Given the description of an element on the screen output the (x, y) to click on. 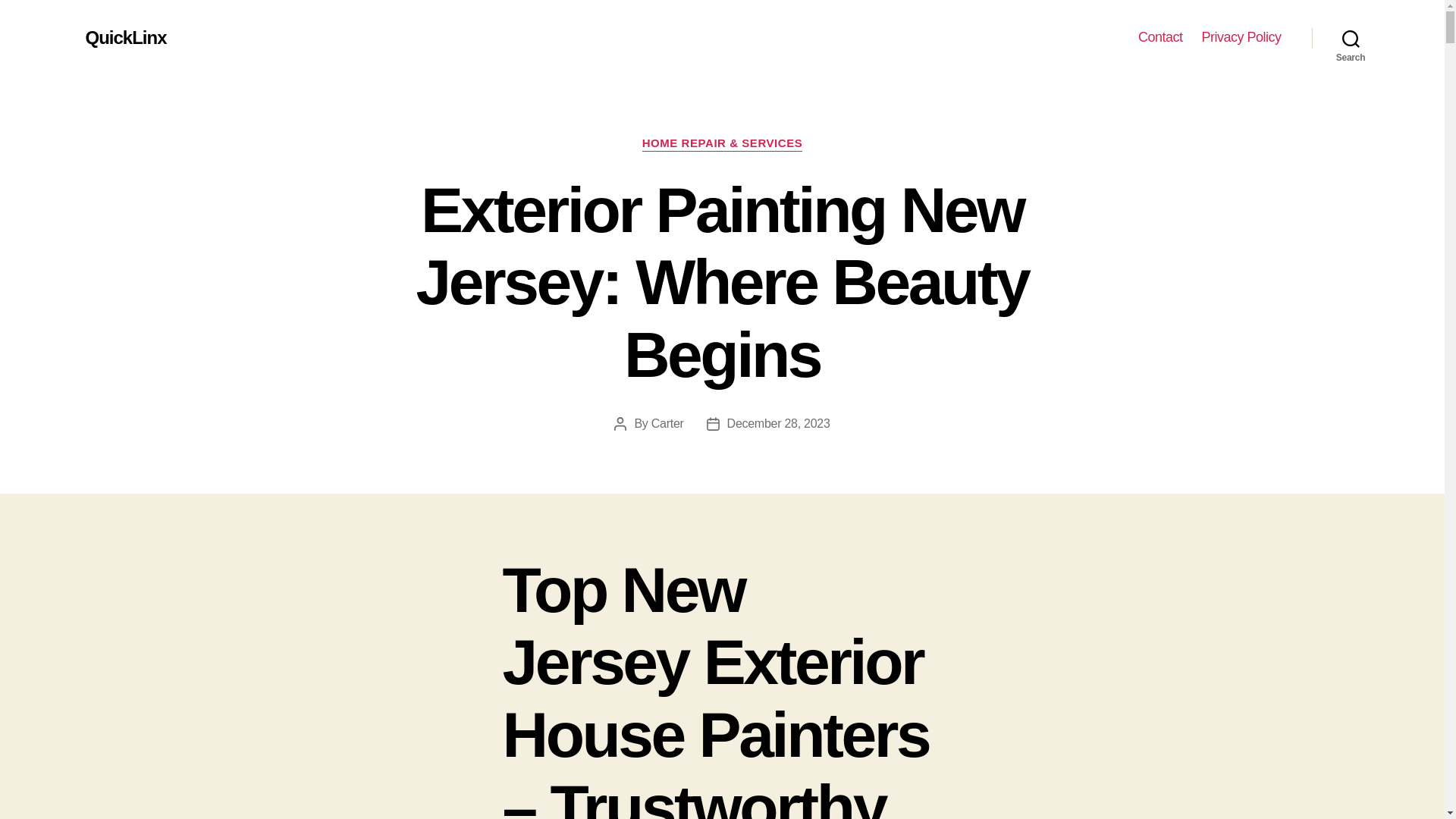
Carter (667, 422)
Privacy Policy (1241, 37)
December 28, 2023 (777, 422)
Contact (1160, 37)
QuickLinx (124, 37)
Search (1350, 37)
